Given the description of an element on the screen output the (x, y) to click on. 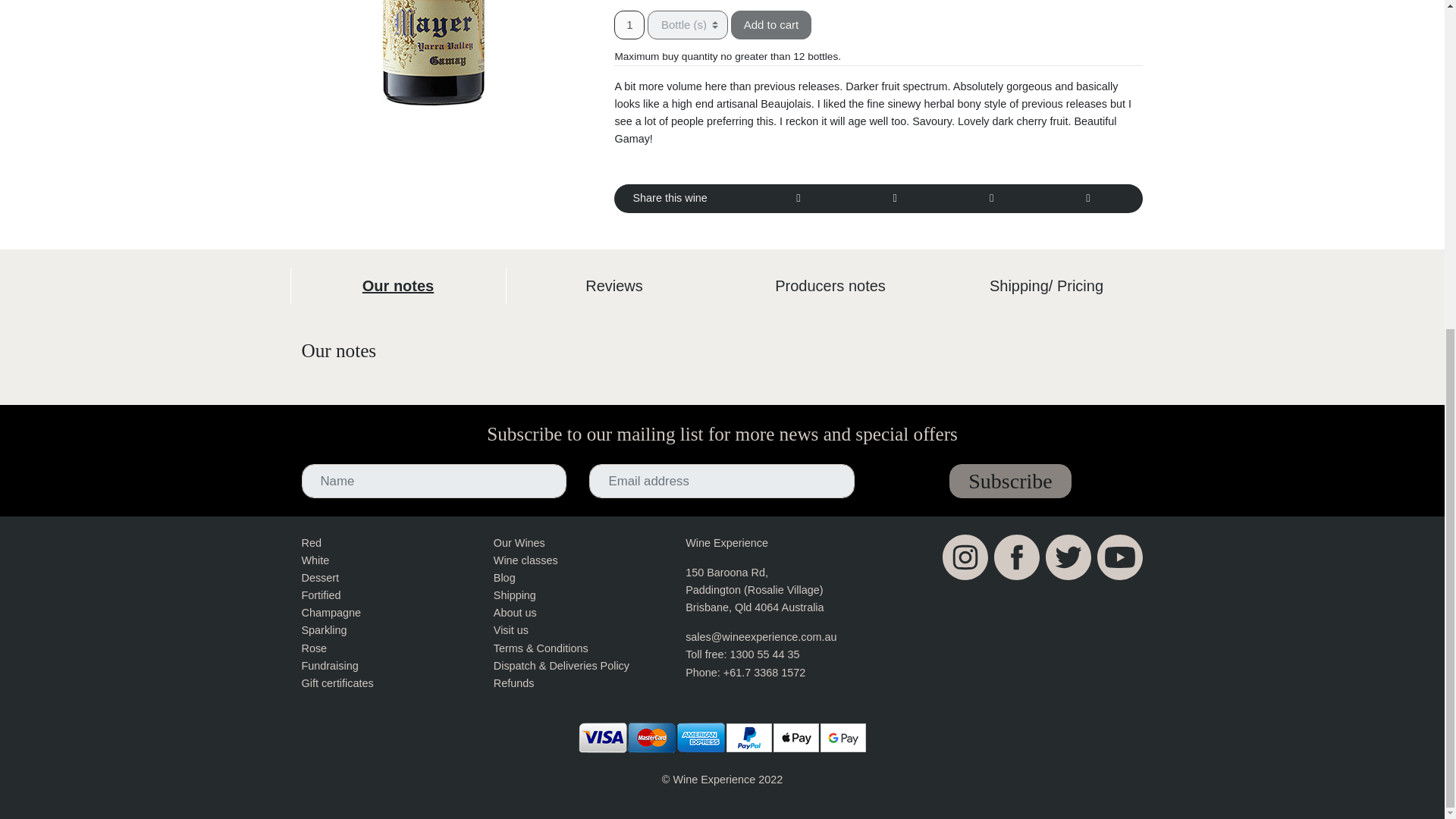
Subscribe (1009, 480)
Add to cart (771, 24)
Payment Options (722, 737)
1 (629, 24)
